Given the description of an element on the screen output the (x, y) to click on. 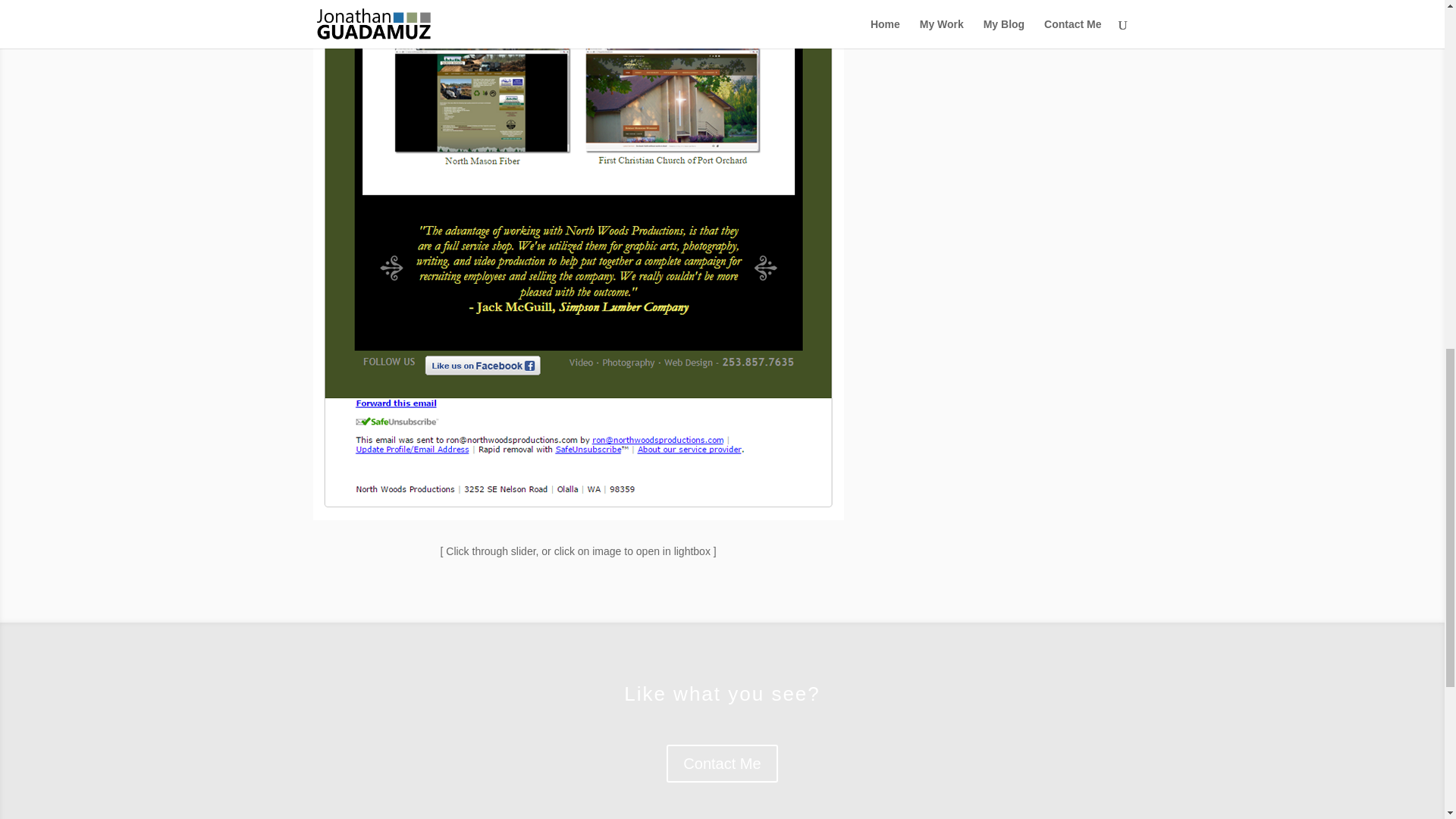
emailblast3 (578, 520)
Contact Me (721, 763)
